Given the description of an element on the screen output the (x, y) to click on. 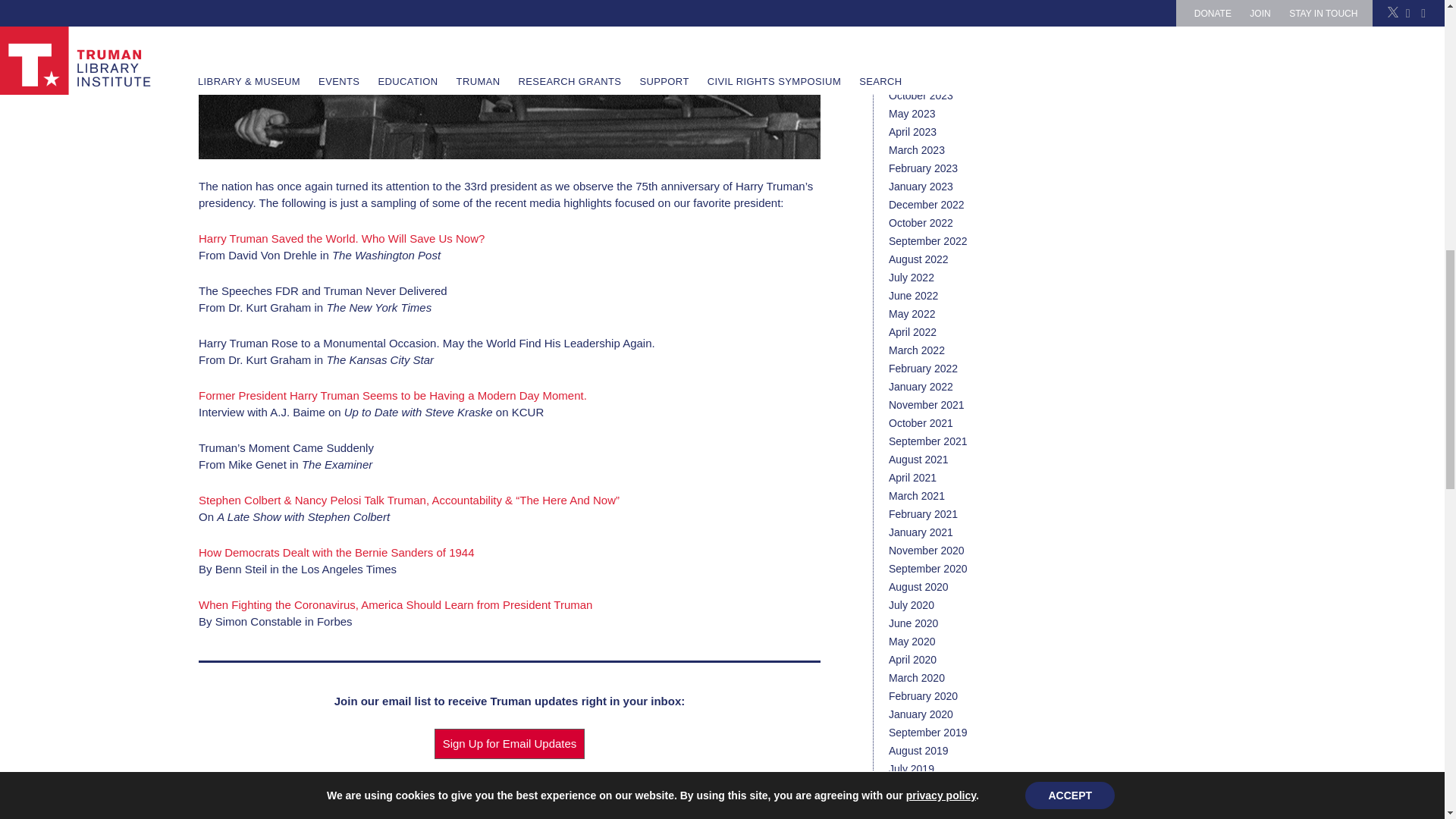
Email to a Friend (544, 782)
Share on Facebook (528, 782)
Tweet on Twitter (512, 782)
